Given the description of an element on the screen output the (x, y) to click on. 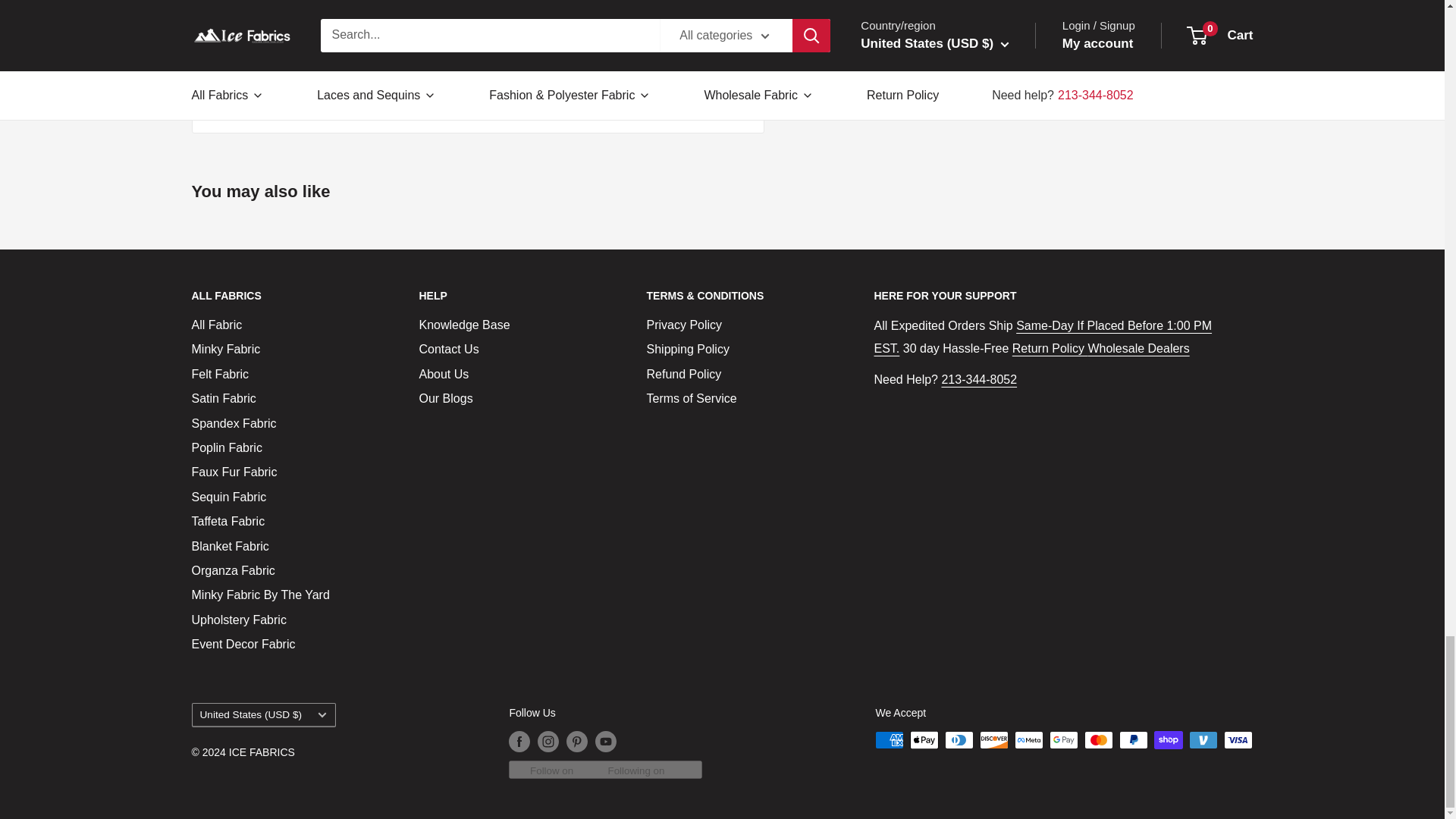
Facebook - IceFabrics (403, 66)
Returns policy (1049, 348)
Instagram - IceFabrics (403, 35)
tel:2133448052 (978, 379)
SHIPPING POLICY (1042, 336)
